Given the description of an element on the screen output the (x, y) to click on. 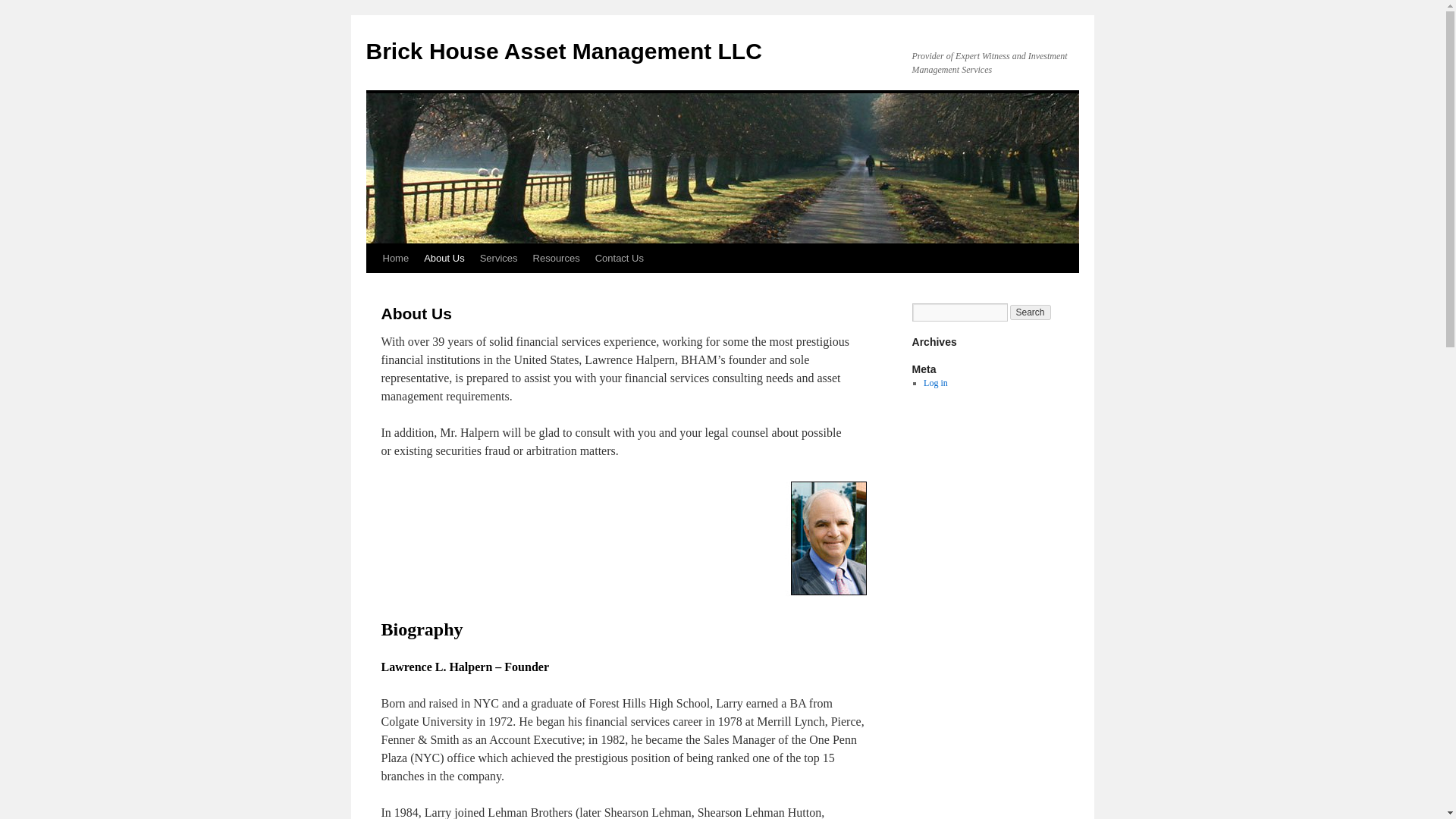
About Us (443, 258)
Search (1030, 312)
Search (1030, 312)
Brick House Asset Management LLC (563, 50)
Home (395, 258)
Contact Us (619, 258)
Resources (556, 258)
Skip to content (372, 287)
Skip to content (372, 287)
Services (498, 258)
Log in (935, 382)
Brick House Asset Management LLC (563, 50)
